Given the description of an element on the screen output the (x, y) to click on. 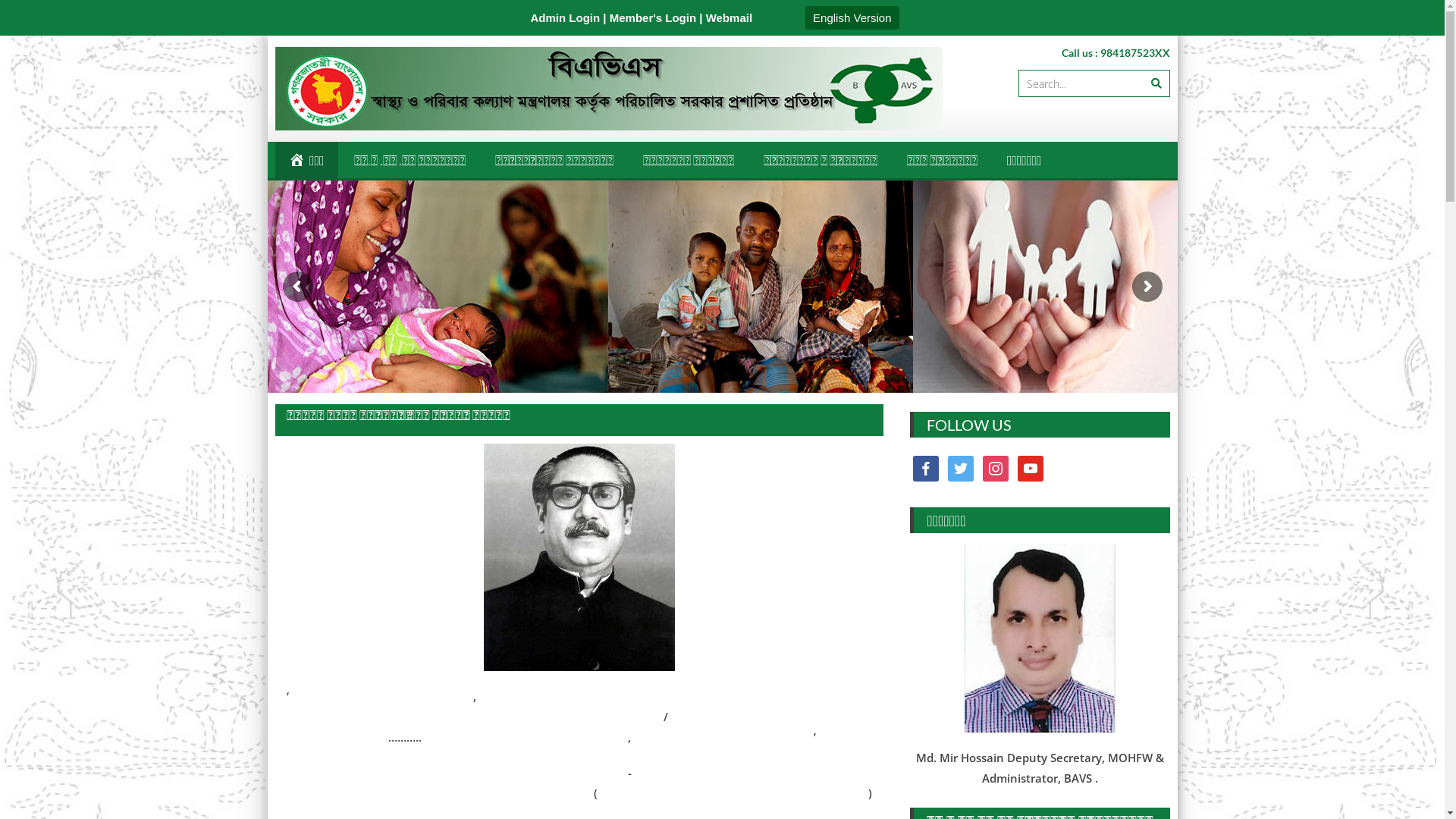
English Version Element type: text (851, 17)
Admin Login Element type: text (565, 17)
Member's Login Element type: text (652, 17)
youtube Element type: text (1030, 466)
twitter Element type: text (960, 466)
instagram Element type: text (995, 466)
facebook Element type: text (925, 466)
Webmail Element type: text (727, 17)
